Given the description of an element on the screen output the (x, y) to click on. 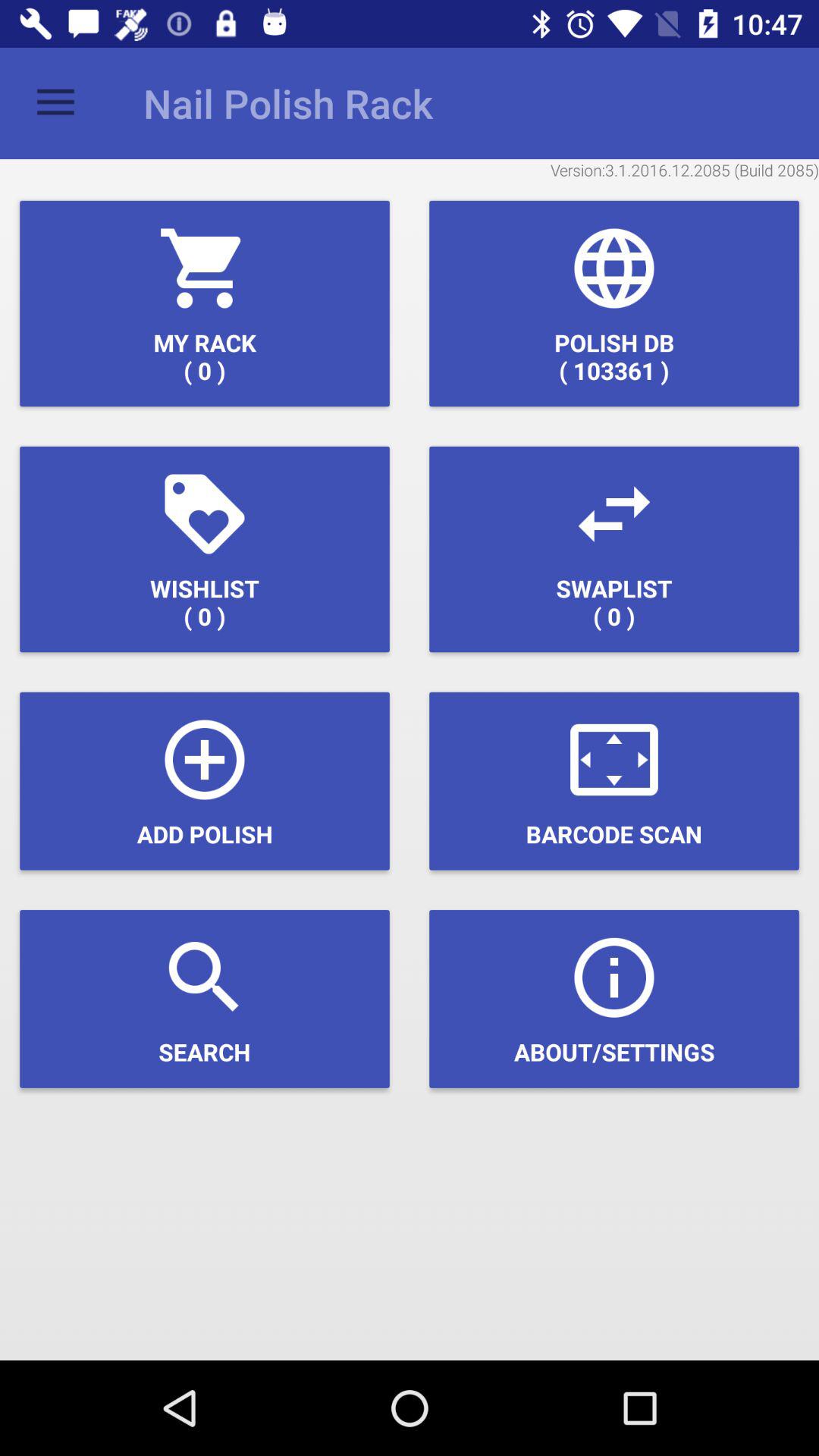
launch item next to wishlist
( 0 ) (614, 549)
